Given the description of an element on the screen output the (x, y) to click on. 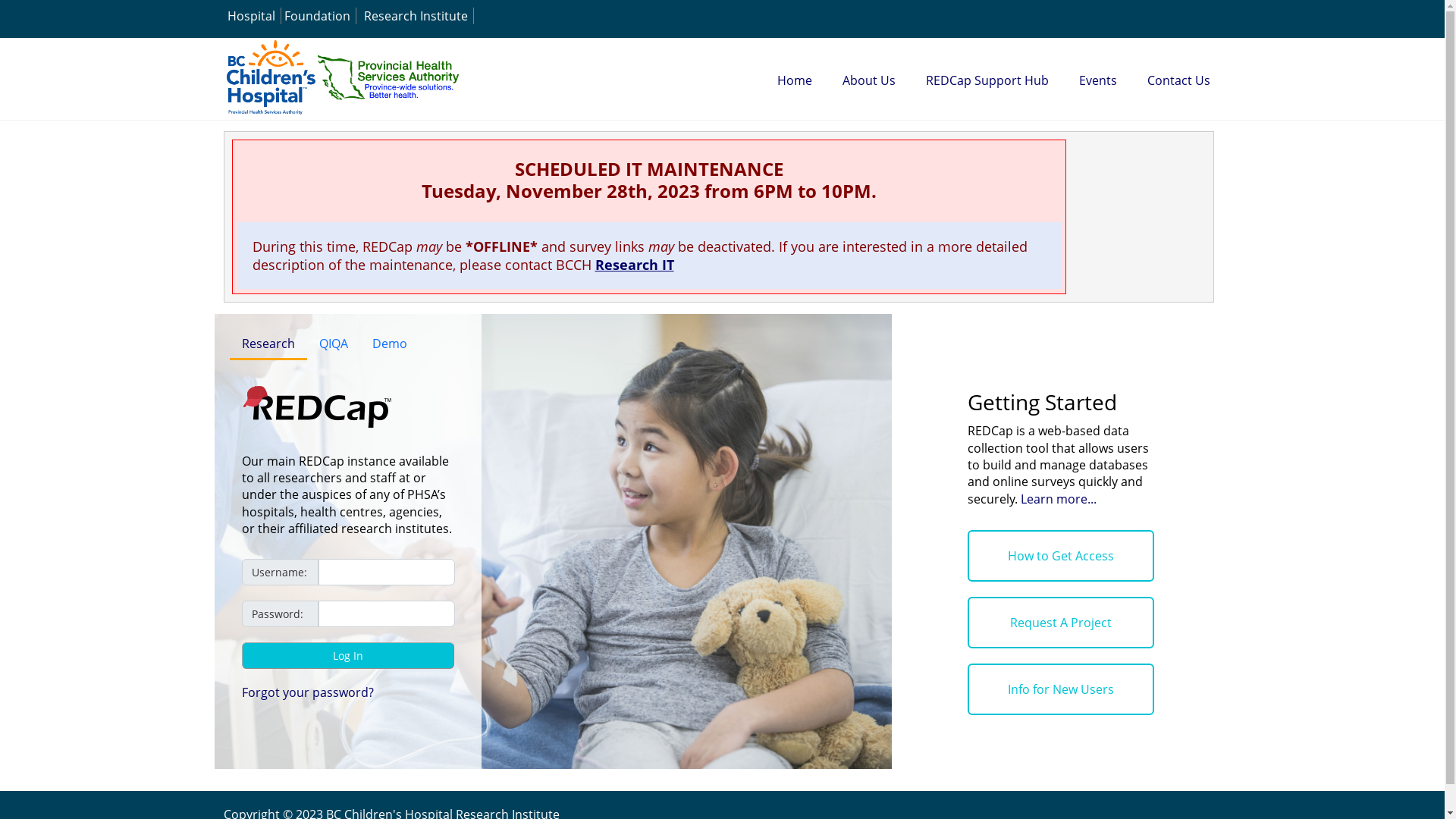
Learn more... Element type: text (1058, 498)
Info for New Users Element type: text (1060, 689)
Log In Element type: text (347, 655)
Forgot your password? Element type: text (307, 692)
Events Element type: text (1097, 80)
QIQA Element type: text (332, 343)
How to Get Access Element type: text (1060, 555)
Demo Element type: text (388, 343)
Research IT Element type: text (633, 265)
Research Element type: text (267, 344)
About Us Element type: text (867, 80)
Request A Project Element type: text (1060, 622)
Hospital Element type: text (251, 15)
Foundation Element type: text (316, 15)
REDCap Support Hub Element type: text (986, 80)
Research Institute Element type: text (415, 15)
Contact Us Element type: text (1177, 80)
Home Element type: text (793, 80)
